Given the description of an element on the screen output the (x, y) to click on. 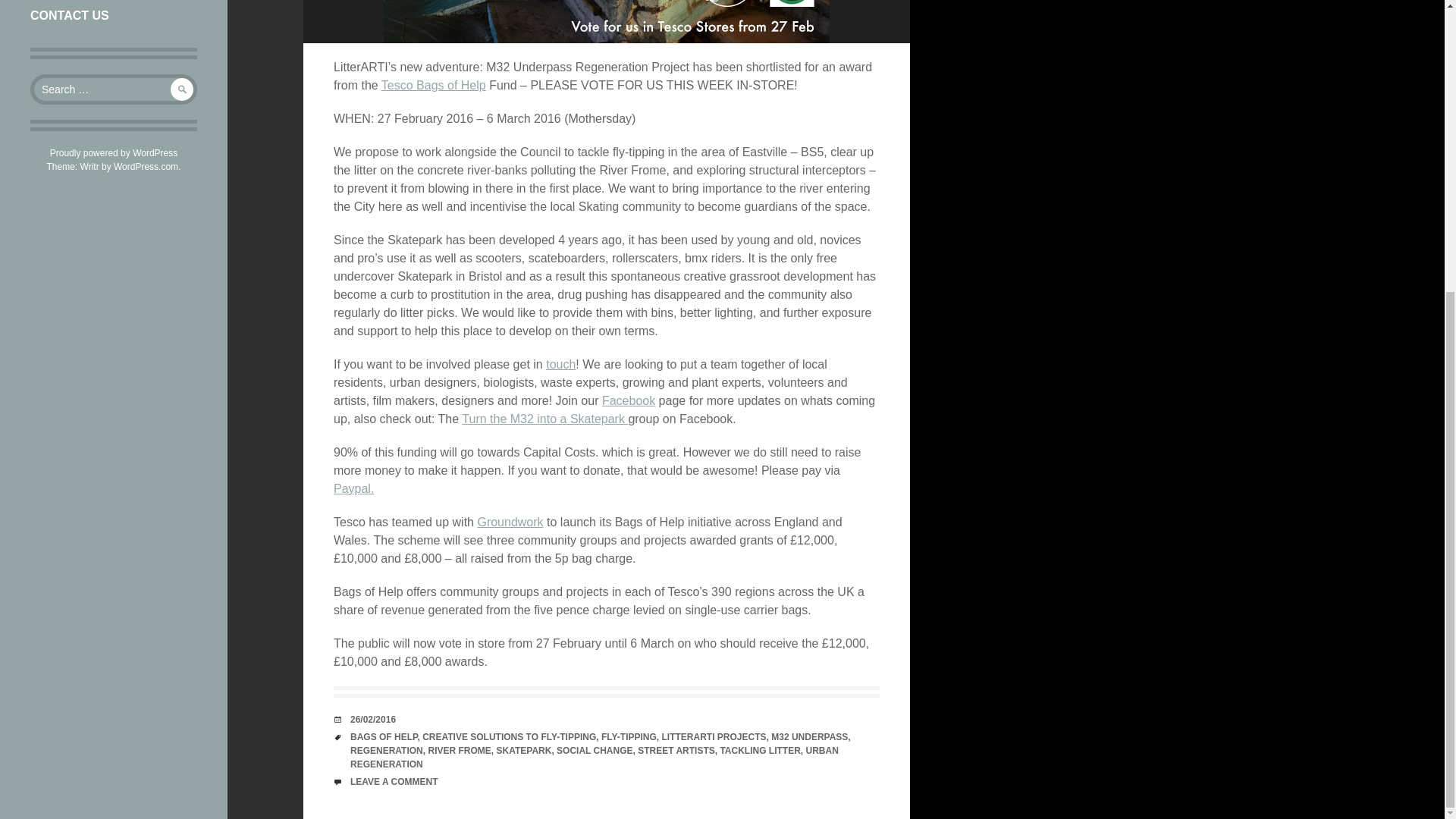
LITTERARTI PROJECTS (714, 737)
7:16 pm (373, 719)
CONTACT US (113, 16)
A Semantic Personal Publishing Platform (113, 153)
Facebook (628, 400)
SOCIAL CHANGE (593, 750)
Proudly powered by WordPress (113, 153)
Turn the M32 into a Skatepark (544, 418)
Groundwork (510, 521)
REGENERATION (386, 750)
SKATEPARK (523, 750)
FLY-TIPPING (628, 737)
CREATIVE SOLUTIONS TO FLY-TIPPING (508, 737)
Paypal. (353, 488)
TACKLING LITTER (759, 750)
